Given the description of an element on the screen output the (x, y) to click on. 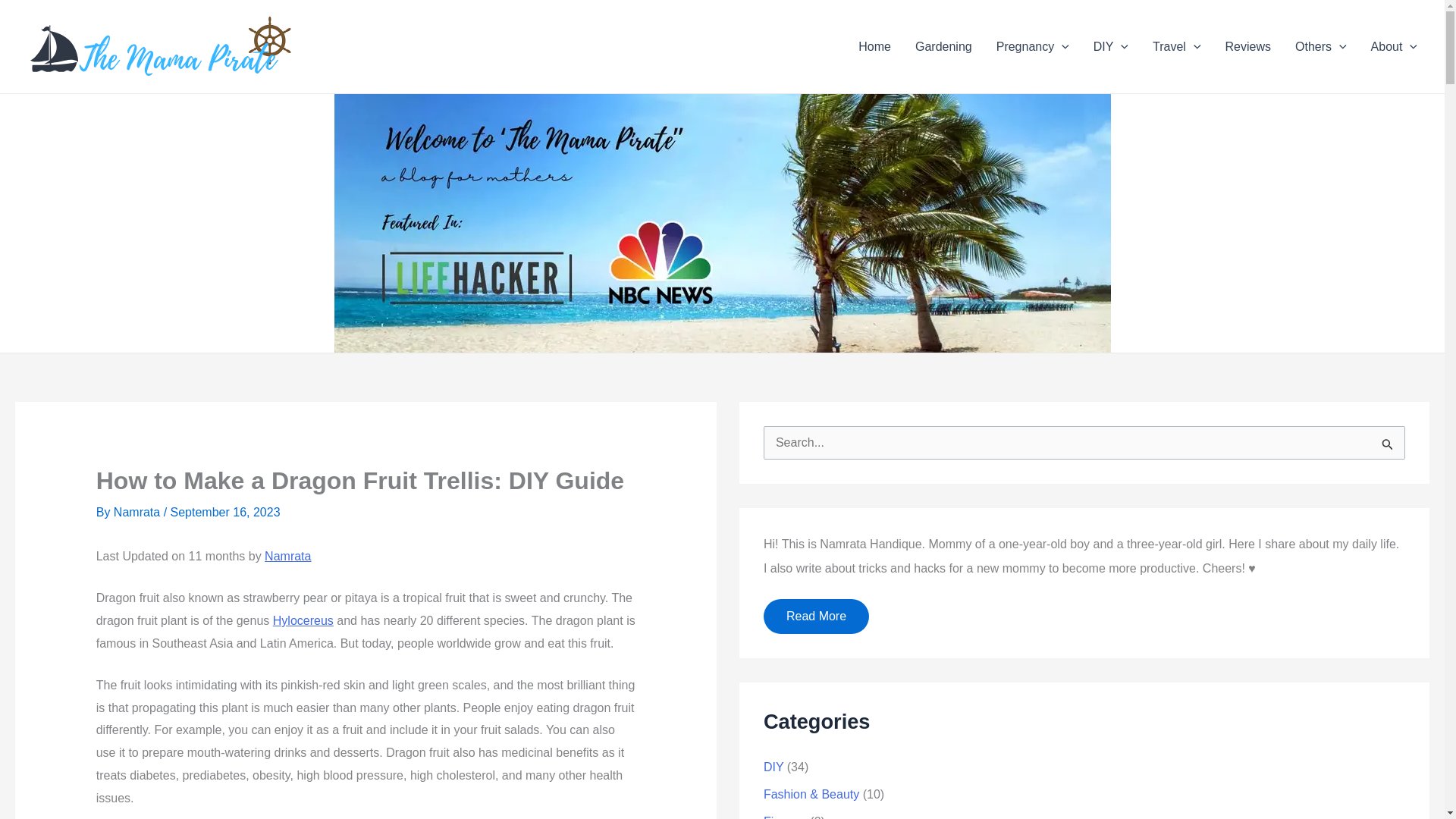
About (1393, 46)
DIY (1110, 46)
Namrata (136, 512)
Travel (1176, 46)
Others (1320, 46)
Hylocereus (303, 620)
View all posts by Namrata (136, 512)
Home (873, 46)
Namrata (287, 555)
Pregnancy (1032, 46)
